Given the description of an element on the screen output the (x, y) to click on. 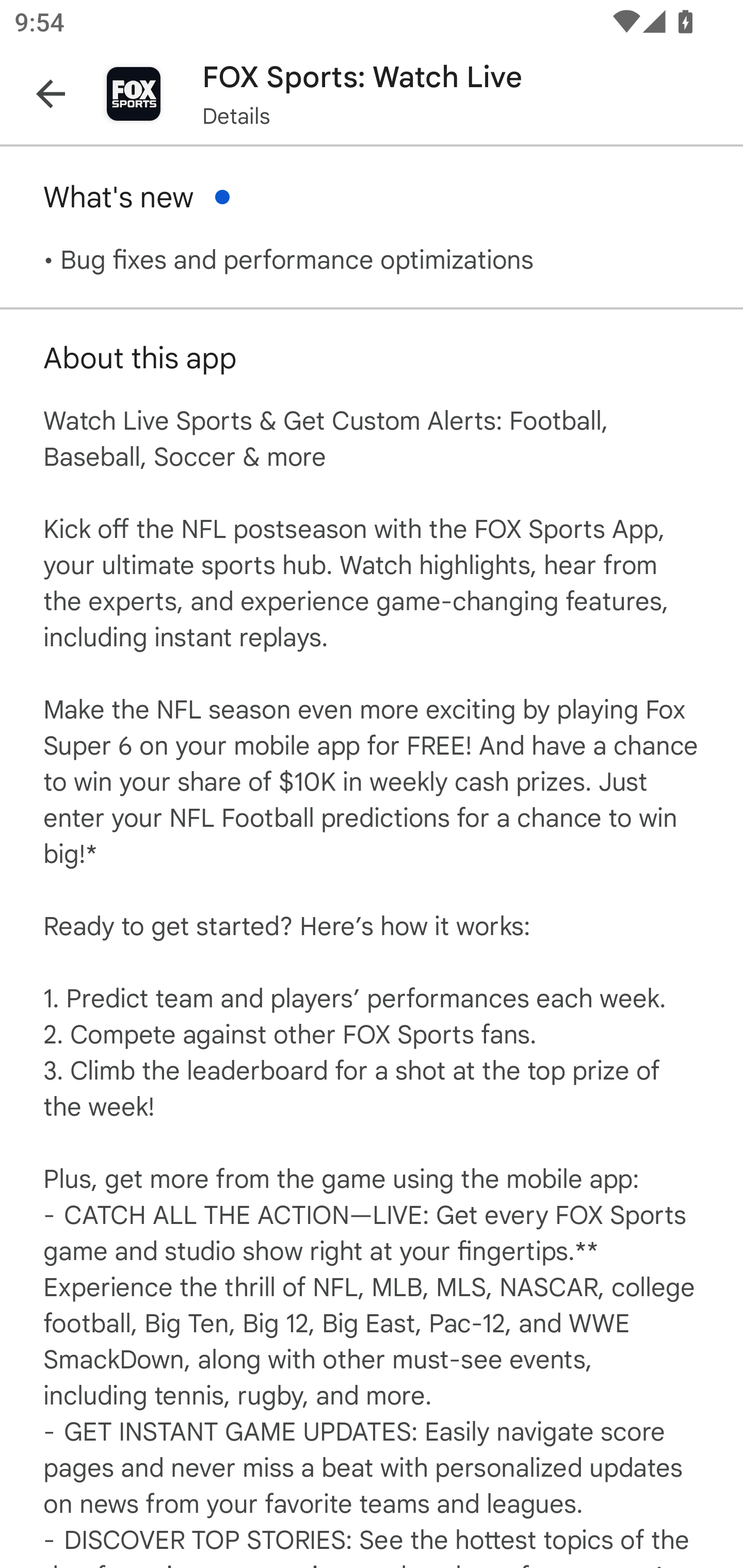
Navigate up (50, 93)
